Given the description of an element on the screen output the (x, y) to click on. 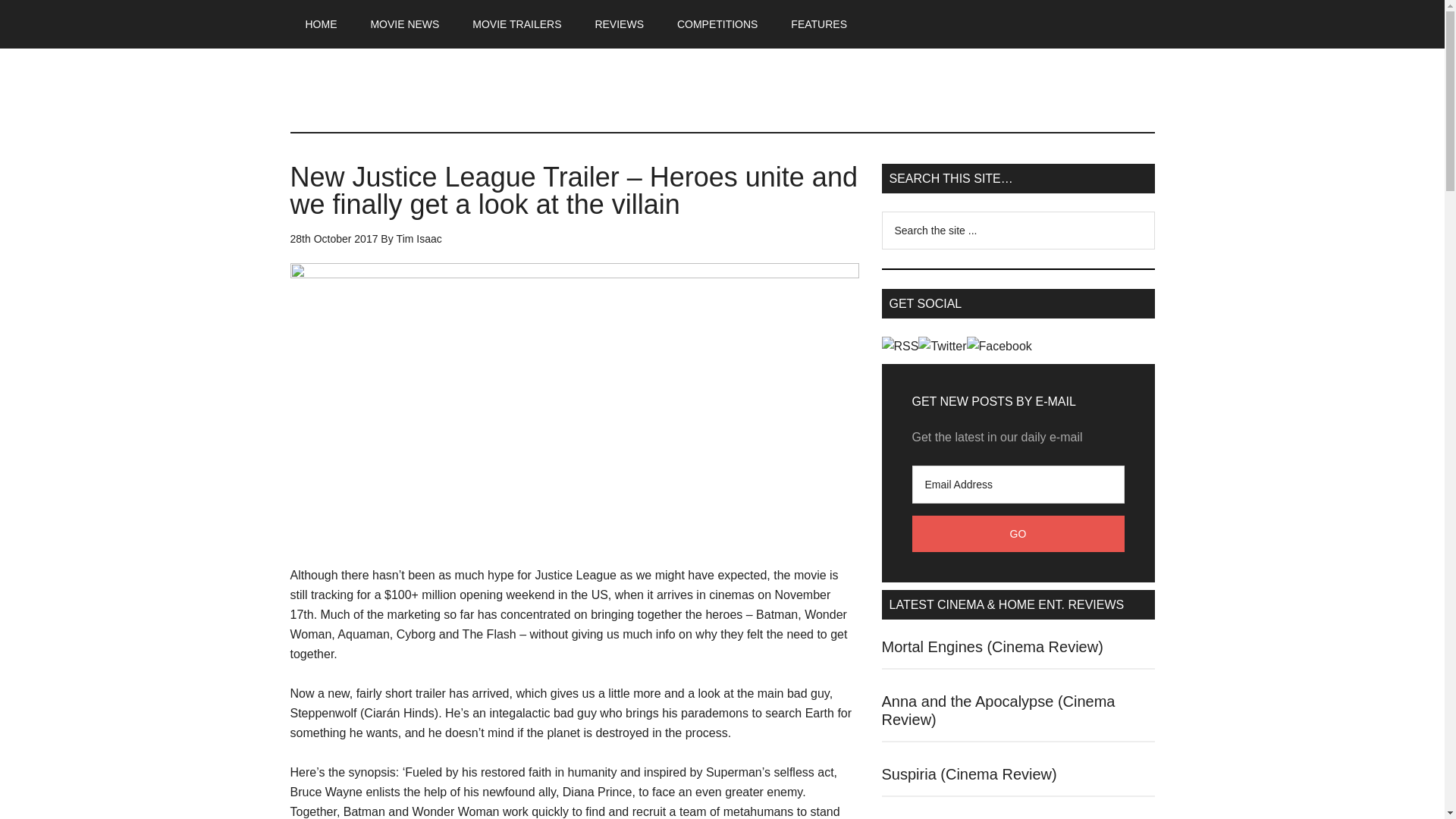
MOVIE NEWS (404, 24)
COMPETITIONS (717, 24)
REVIEWS (619, 24)
Go (1017, 533)
HOME (320, 24)
MOVIE TRAILERS (516, 24)
Movie Muser (721, 90)
FEATURES (818, 24)
Tim Isaac (419, 238)
